Given the description of an element on the screen output the (x, y) to click on. 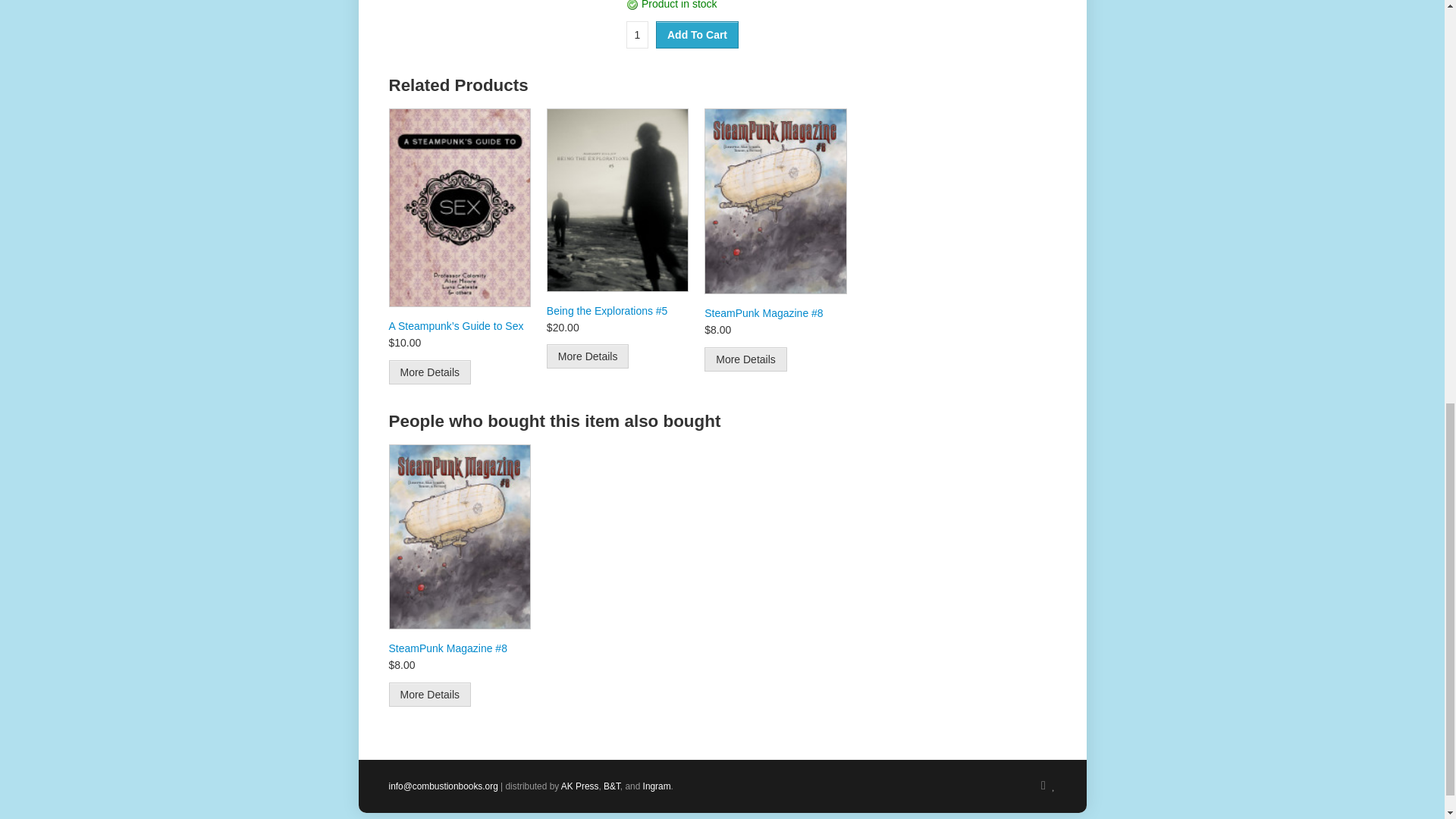
More Details (587, 355)
Add To Cart (697, 34)
More Details (429, 694)
Add To Cart (697, 34)
More Details (745, 359)
More Details (429, 371)
